Given the description of an element on the screen output the (x, y) to click on. 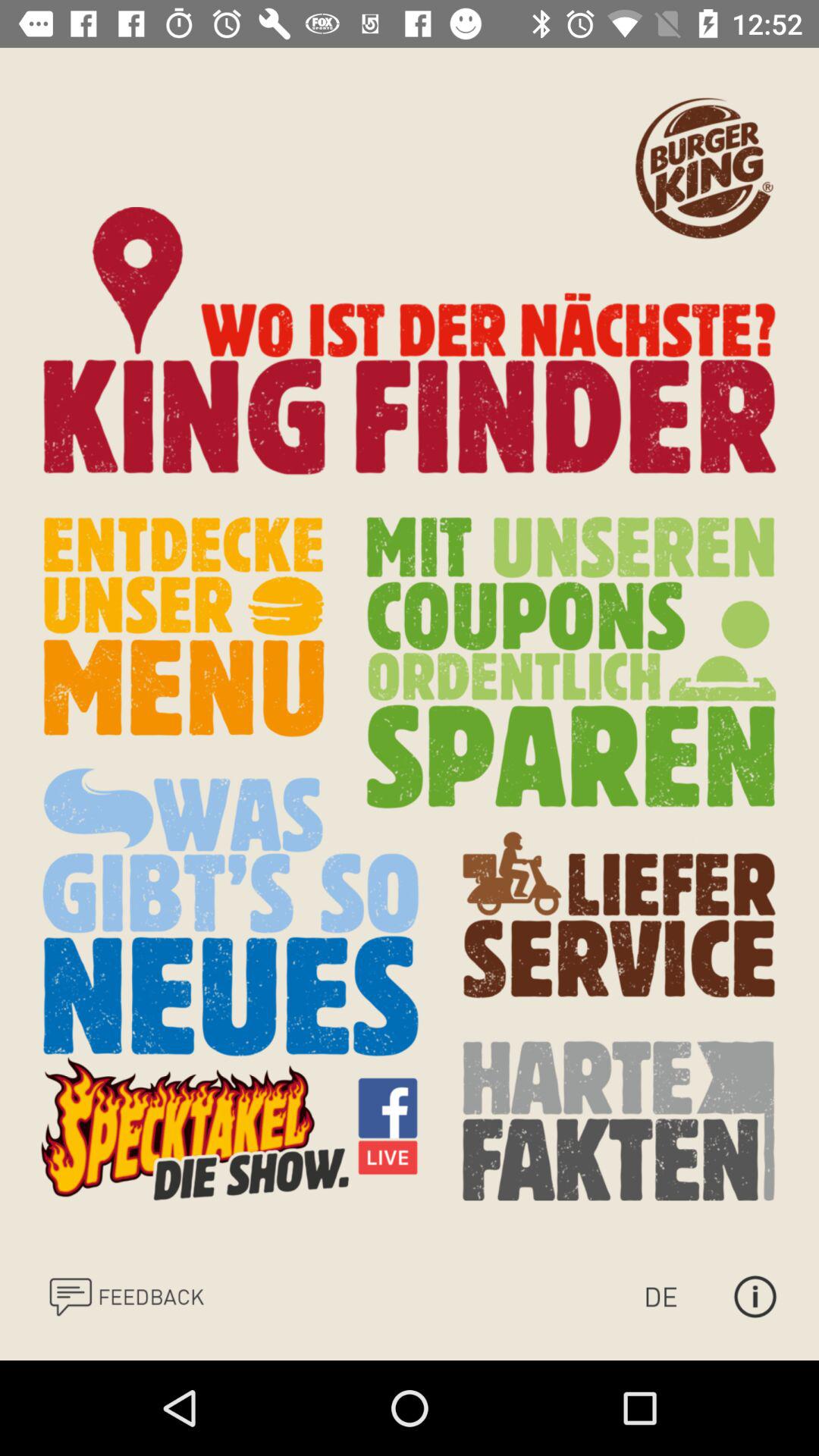
change currency (675, 1296)
